Given the description of an element on the screen output the (x, y) to click on. 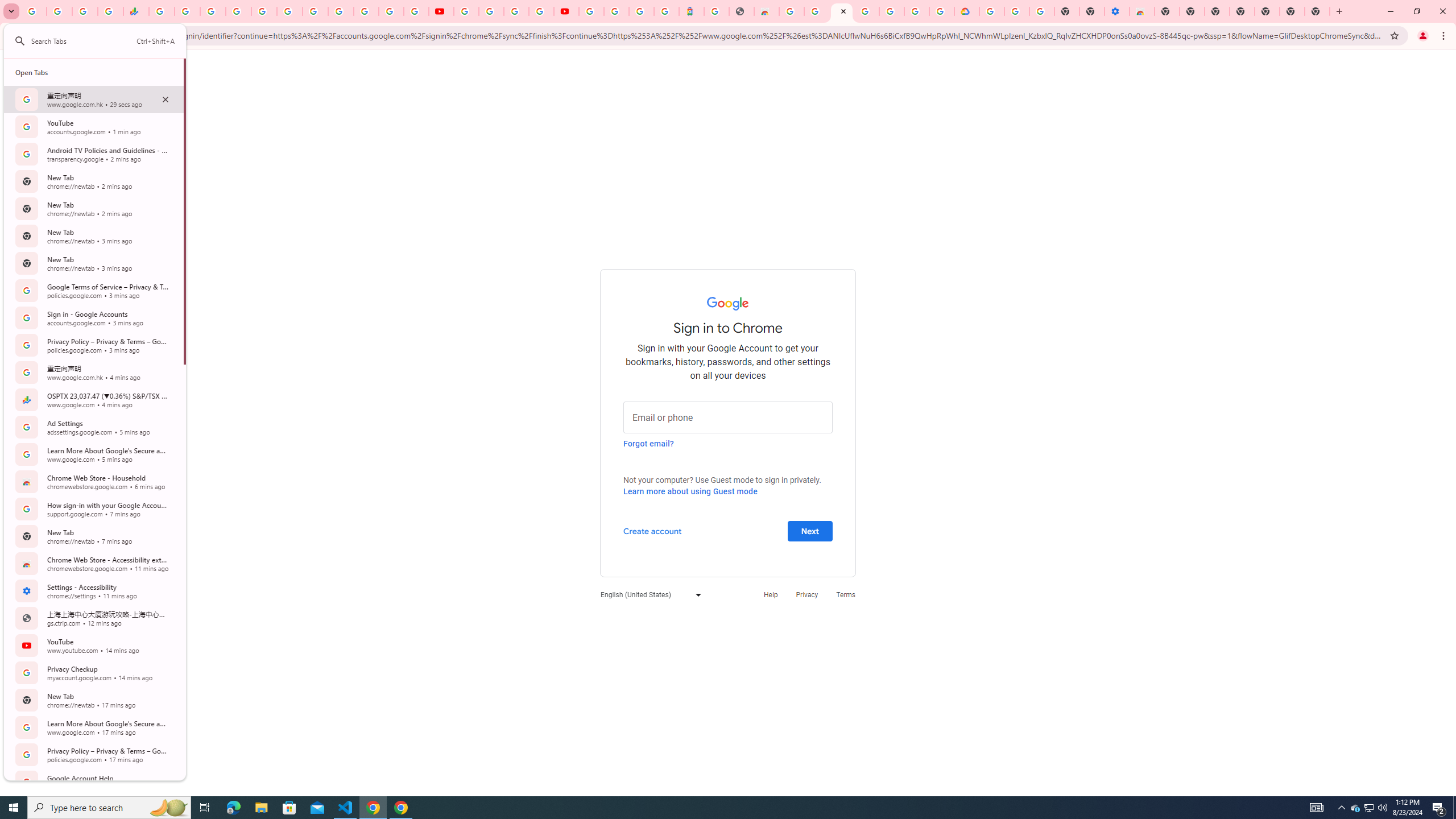
English (United States) (647, 594)
Google Chrome - 1 running window (400, 807)
AutomationID: baseSvg (20, 40)
Sign in - Google Accounts (991, 11)
Settings - Accessibility (1116, 11)
YouTube www.youtube.com 14 mins ago Open Tab (93, 645)
Atour Hotel - Google hotels (691, 11)
